Given the description of an element on the screen output the (x, y) to click on. 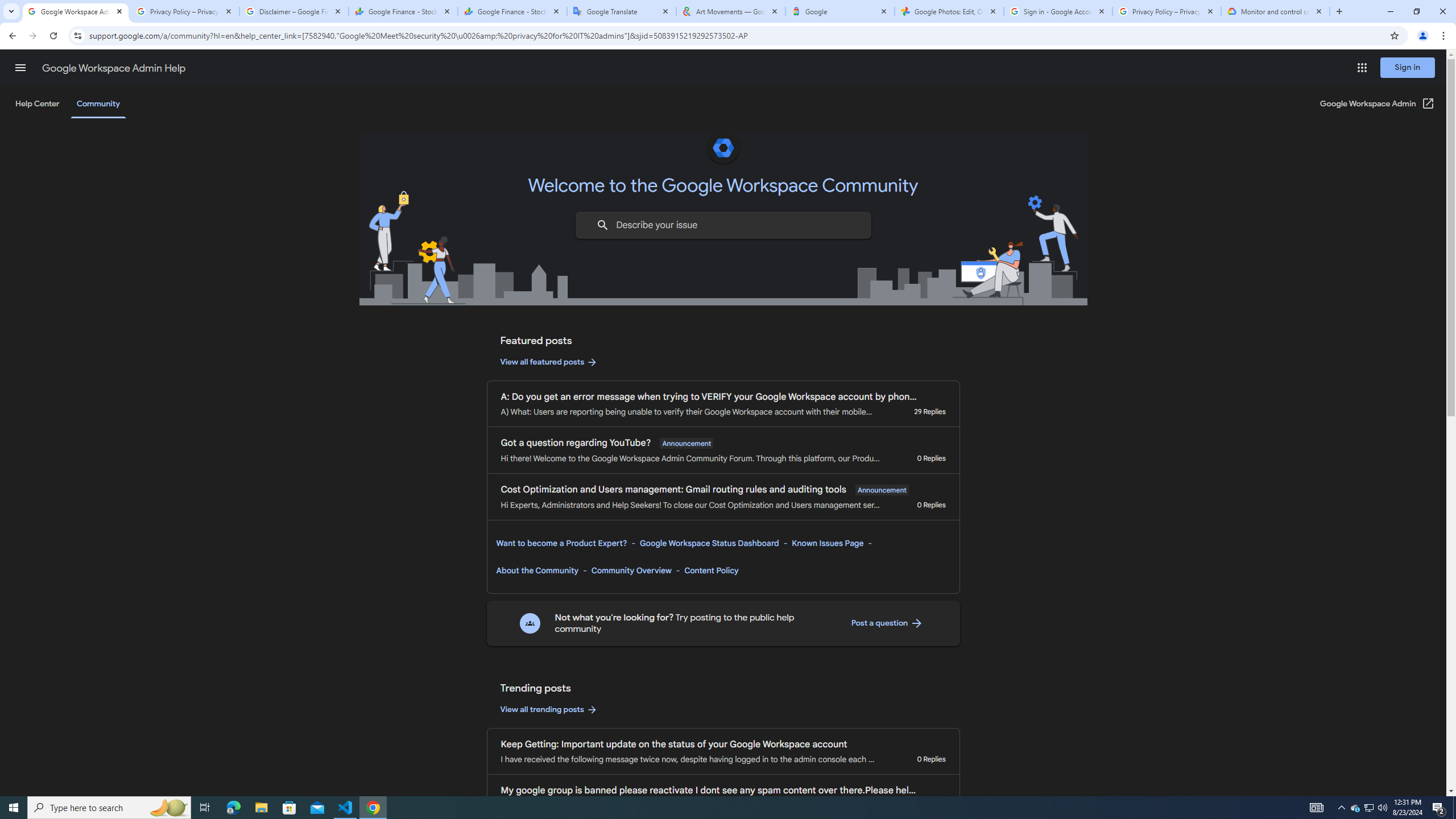
Sign in - Google Accounts (1058, 11)
Describe your issue to find information that might help you. (722, 225)
Google Workspace Admin Help (113, 68)
View all featured posts (548, 361)
